Given the description of an element on the screen output the (x, y) to click on. 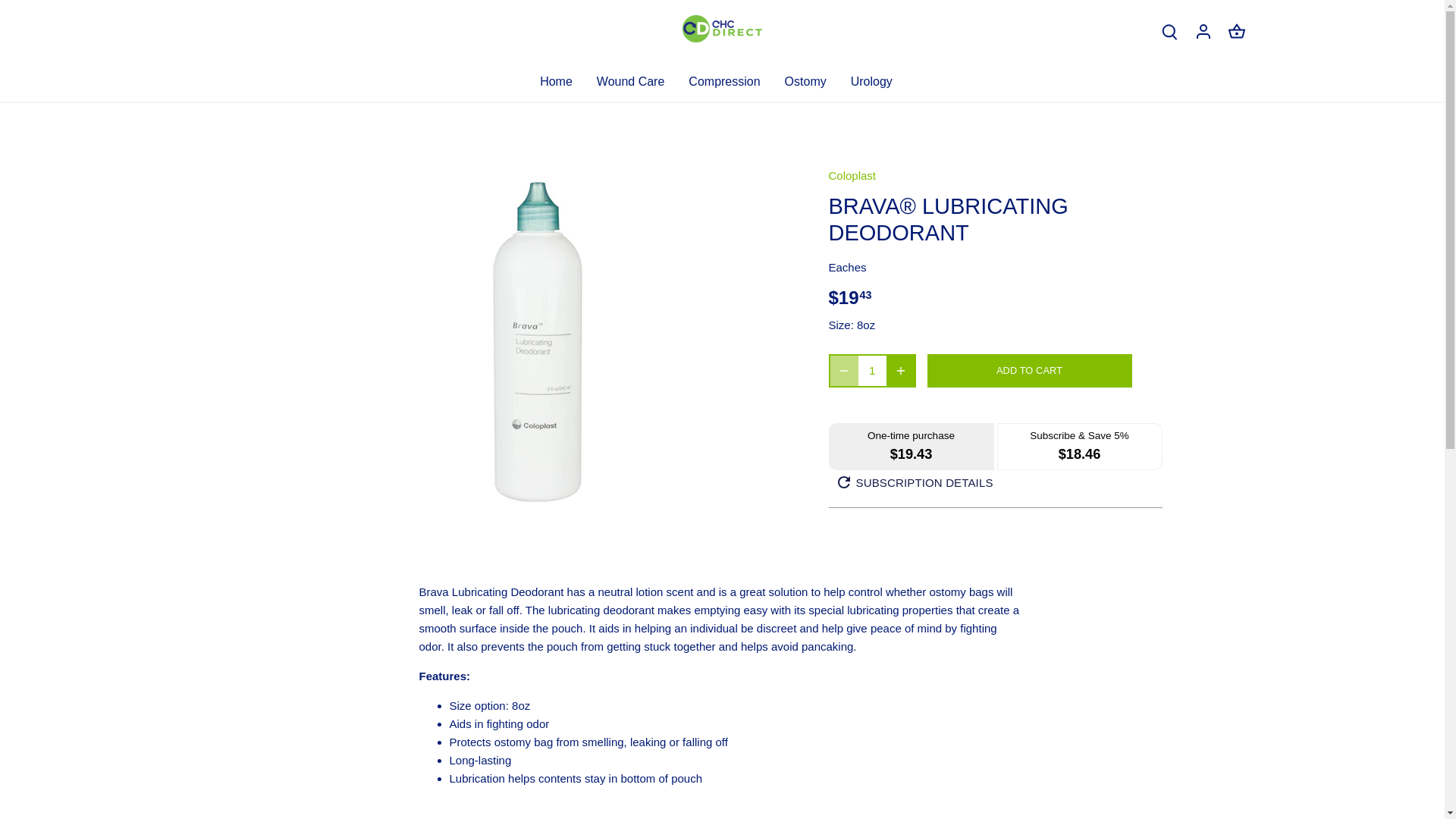
Coloplast (852, 174)
SUBSCRIPTION DETAILS (914, 481)
ADD TO CART (1028, 370)
1 (872, 370)
Compression (724, 81)
Urology (871, 81)
Ostomy (805, 81)
Home (562, 81)
